Given the description of an element on the screen output the (x, y) to click on. 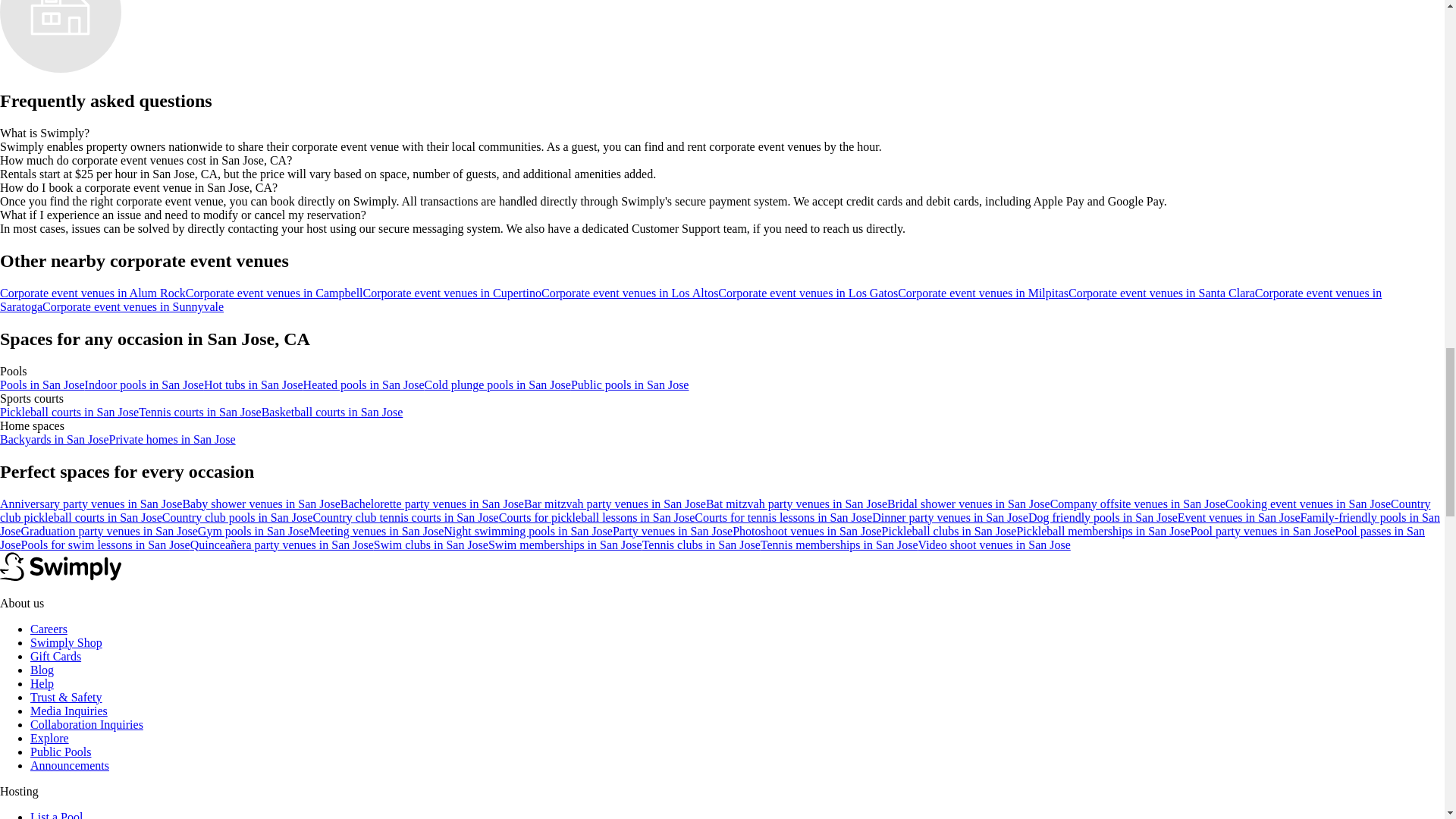
Corporate event venues in Cupertino (451, 292)
Corporate event venues in Campbell (274, 292)
Gift Cards (55, 656)
Corporate event venues in Milpitas (983, 292)
Swimply Shop (65, 642)
Corporate event venues in Los Altos (629, 292)
Media Inquiries (68, 710)
Pools in San Jose (42, 384)
Corporate event venues in Sunnyvale (133, 306)
Corporate event venues in Alum Rock (93, 292)
